Given the description of an element on the screen output the (x, y) to click on. 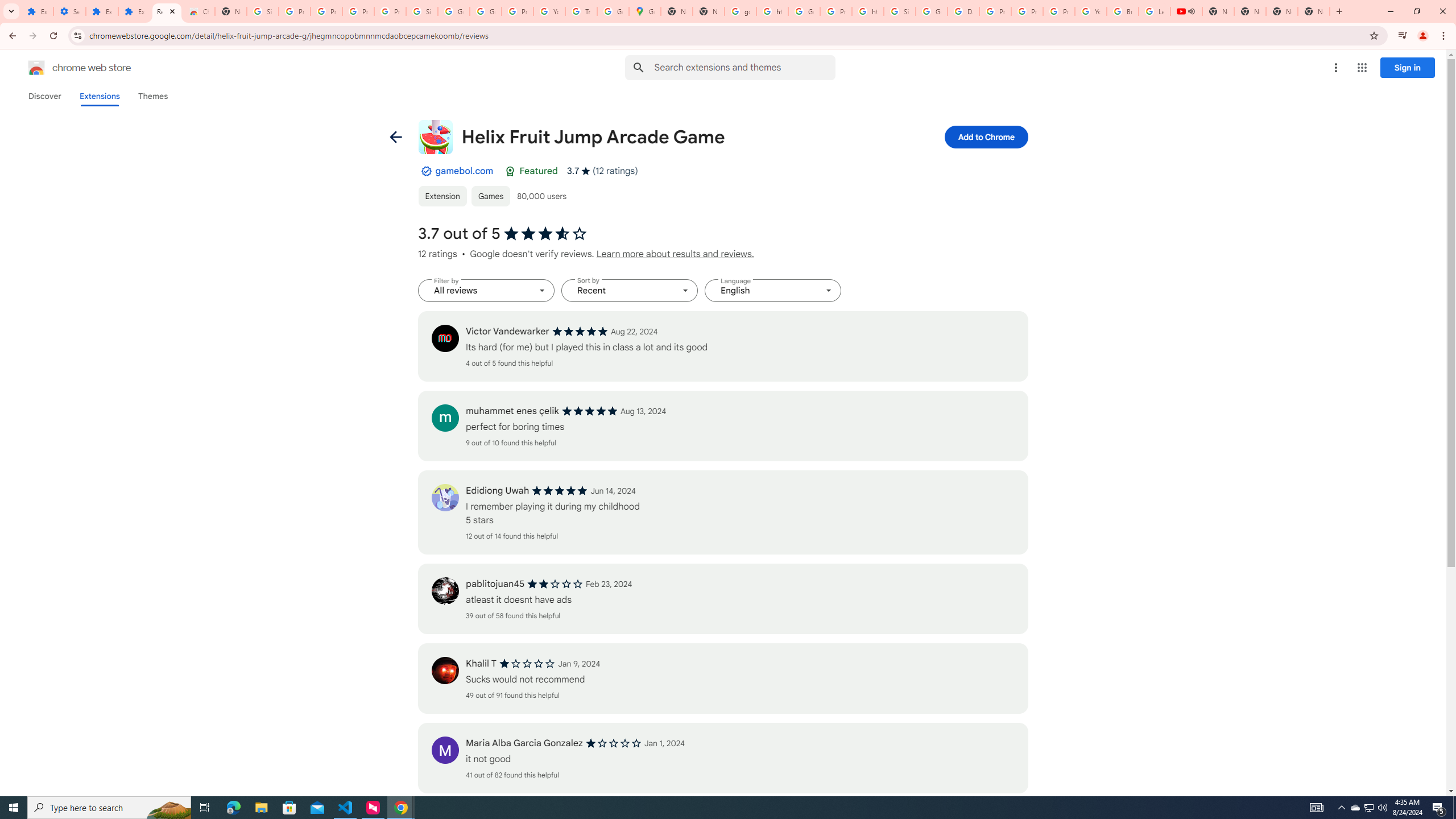
Extensions (134, 11)
Sign in - Google Accounts (899, 11)
Language English (772, 290)
Extension (442, 195)
More options menu (1335, 67)
Reviews: Helix Fruit Jump Arcade Game (166, 11)
https://scholar.google.com/ (772, 11)
1 out of 5 stars (613, 743)
Item logo image for Helix Fruit Jump Arcade Game (434, 136)
Chrome Web Store - Themes (198, 11)
